Given the description of an element on the screen output the (x, y) to click on. 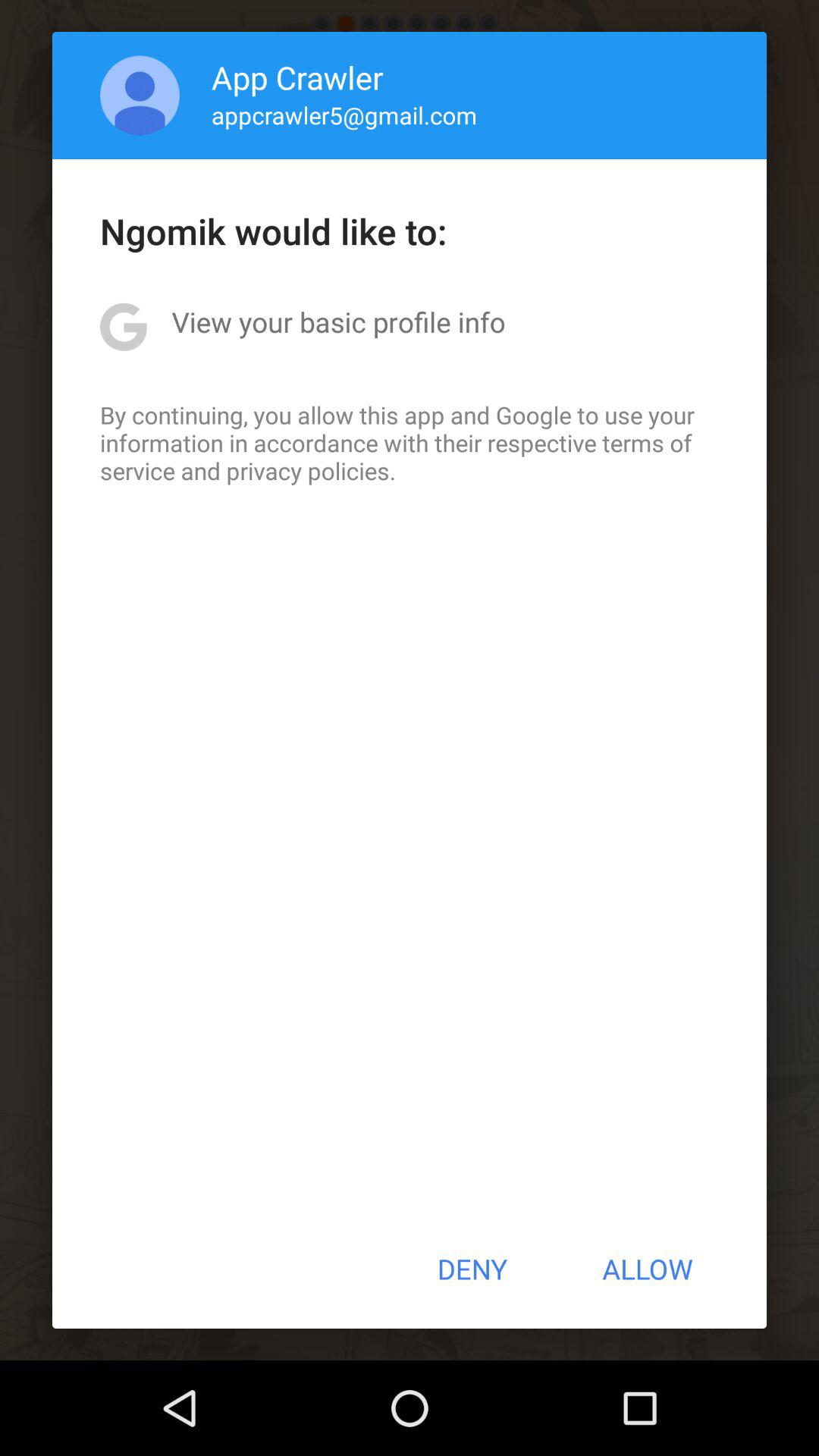
click the app below app crawler item (344, 114)
